Given the description of an element on the screen output the (x, y) to click on. 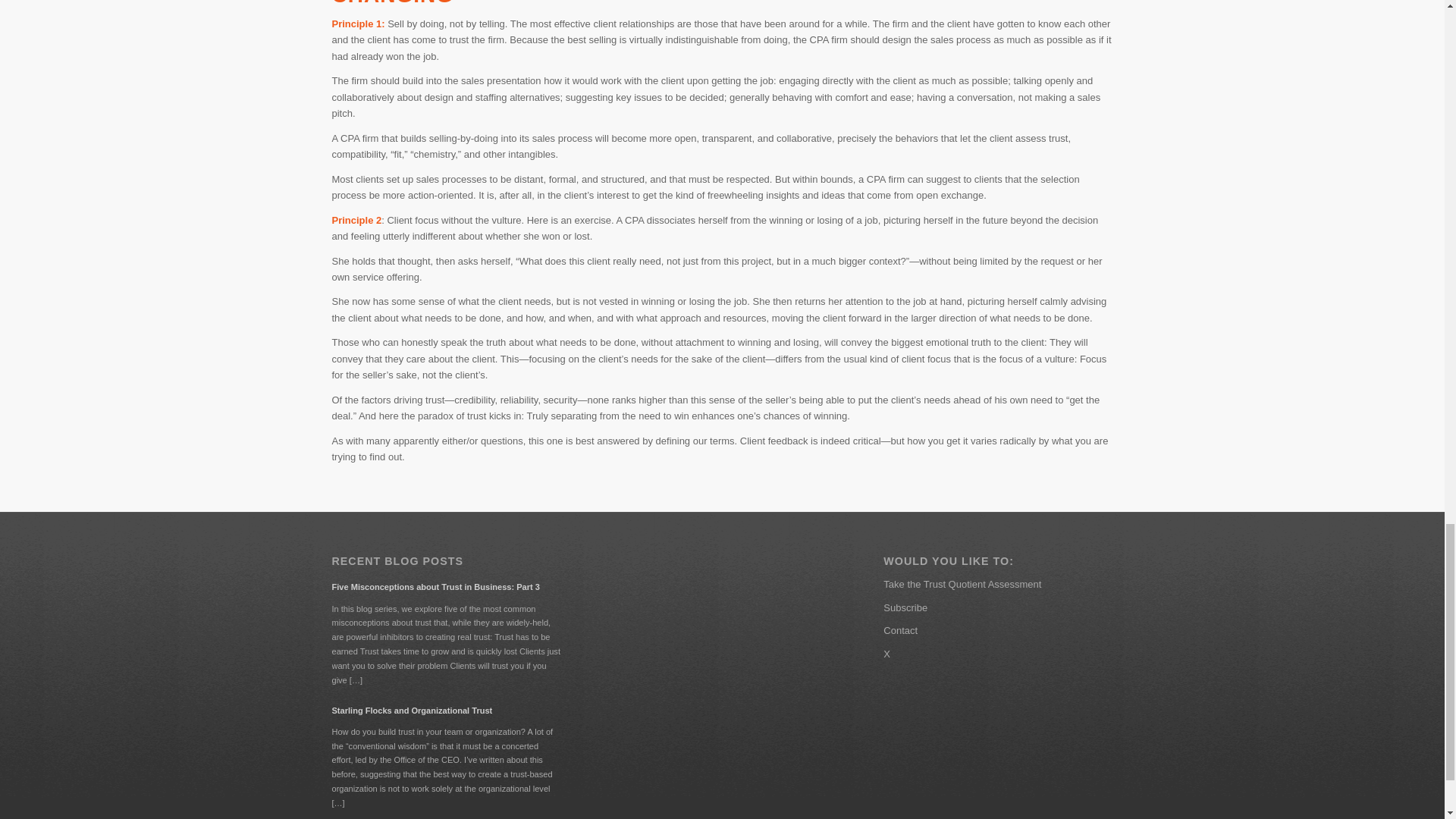
Starling Flocks and Organizational Trust (445, 709)
Five Misconceptions about Trust in Business: Part 3 (445, 586)
